Given the description of an element on the screen output the (x, y) to click on. 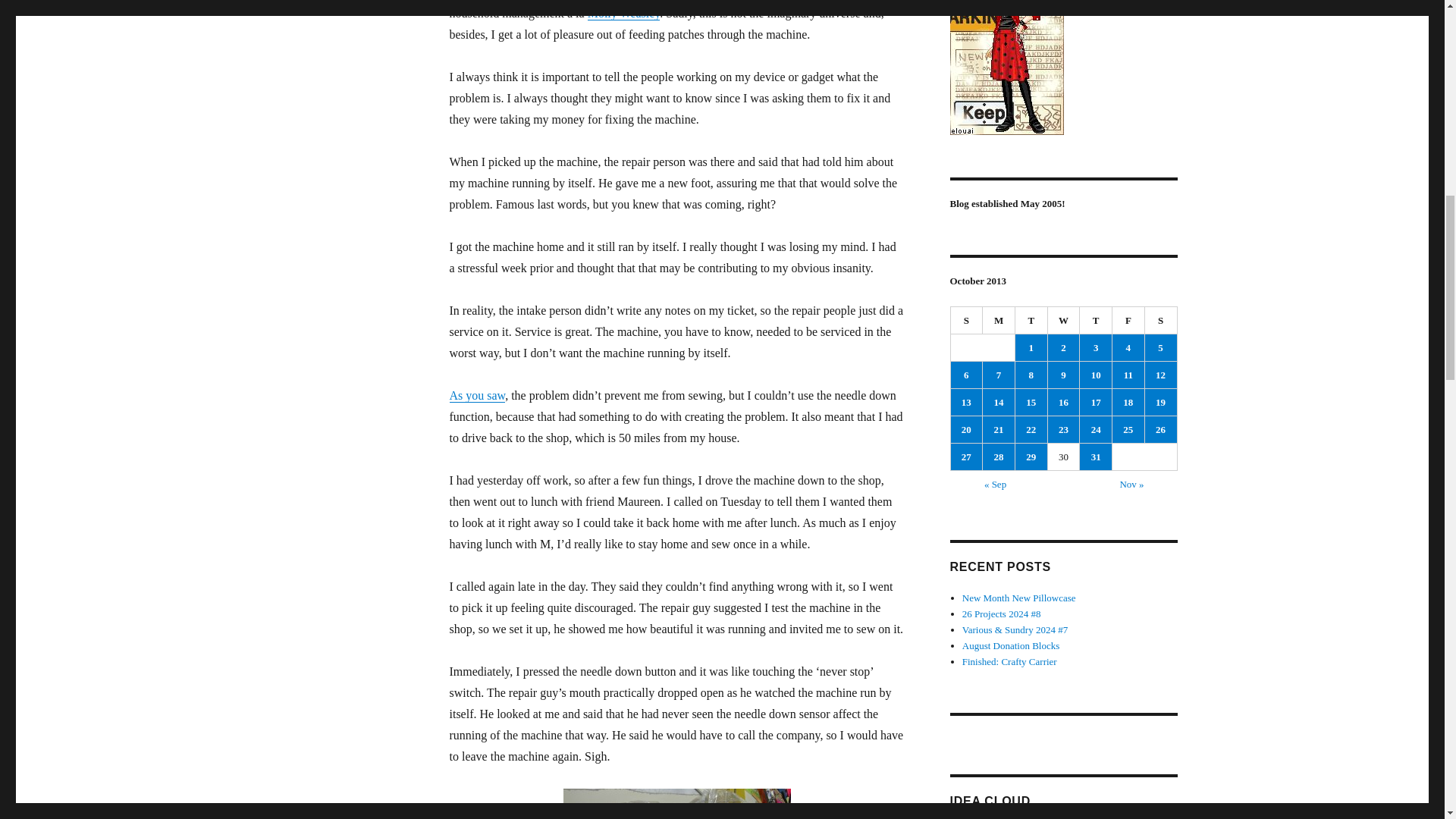
Jaye, Artquiltmaker.com (1062, 67)
Thursday (1096, 320)
Friday (1128, 320)
Monday (998, 320)
Tuesday (1031, 320)
Wednesday (1064, 320)
Saturday (1160, 320)
Sunday (967, 320)
